Given the description of an element on the screen output the (x, y) to click on. 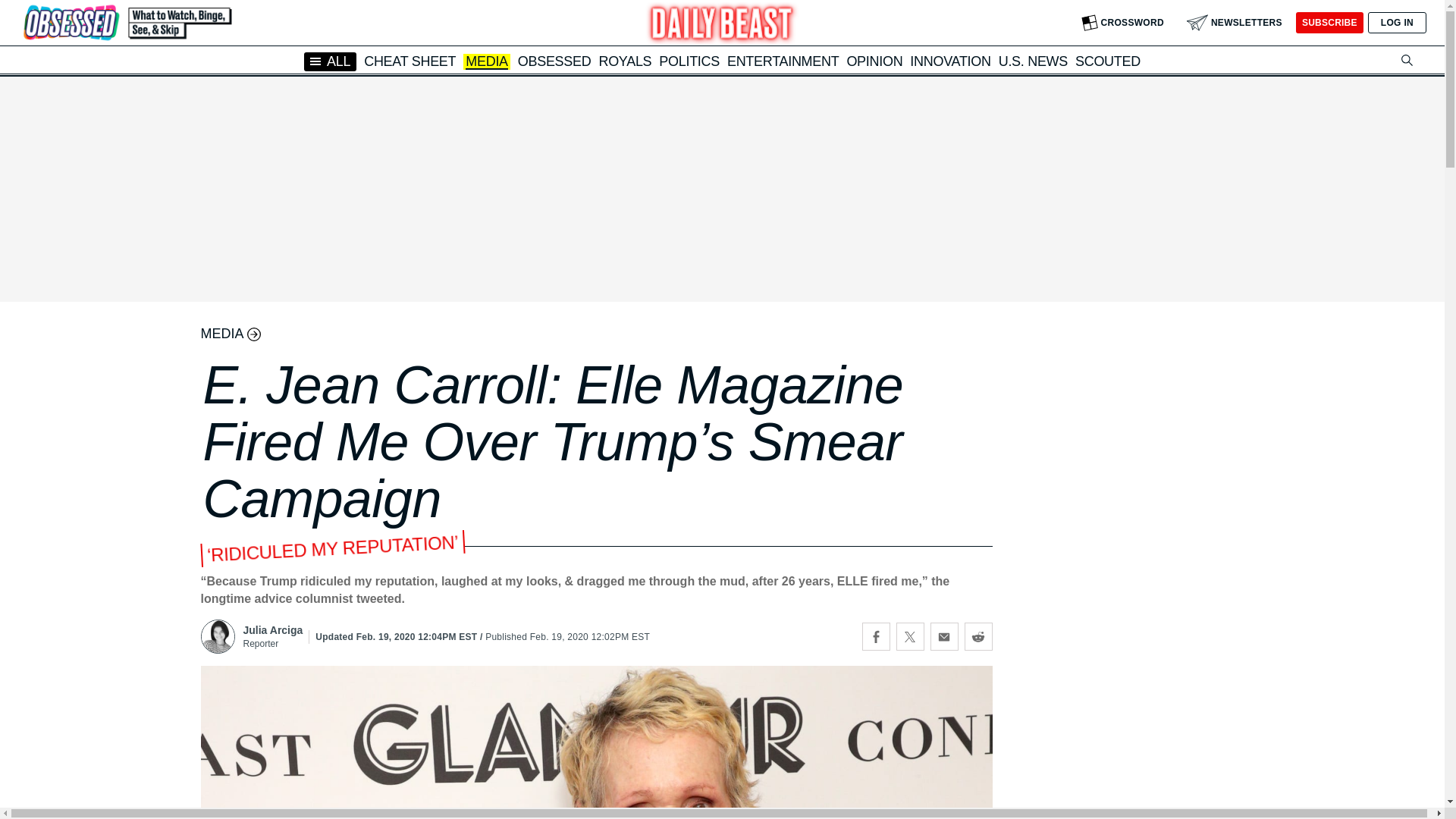
OBSESSED (554, 60)
POLITICS (689, 60)
NEWSLETTERS (1234, 22)
CROSSWORD (1122, 22)
CHEAT SHEET (409, 60)
SUBSCRIBE (1328, 22)
U.S. NEWS (1032, 60)
INNOVATION (950, 60)
